Given the description of an element on the screen output the (x, y) to click on. 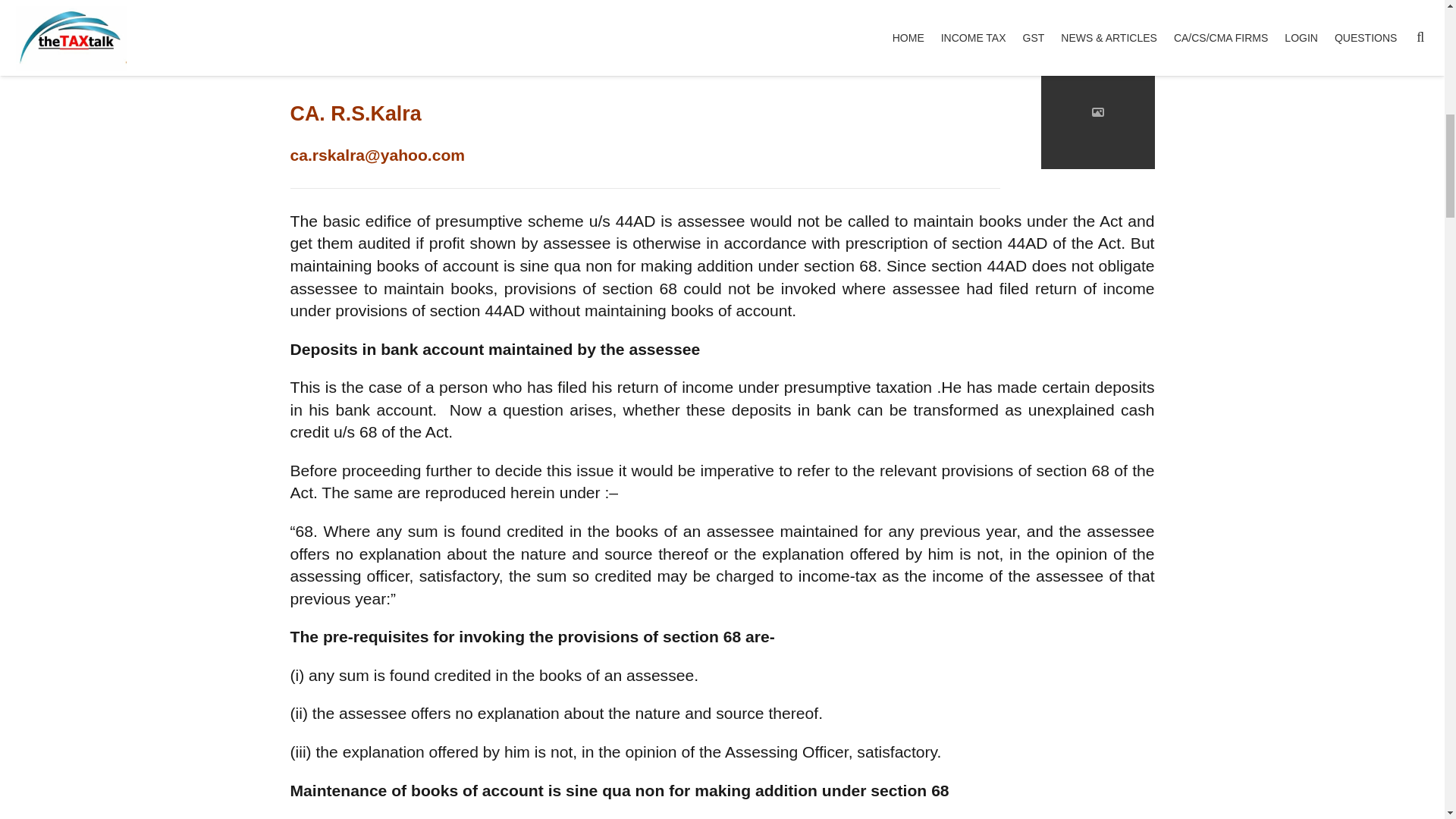
Back to top (1413, 22)
